Given the description of an element on the screen output the (x, y) to click on. 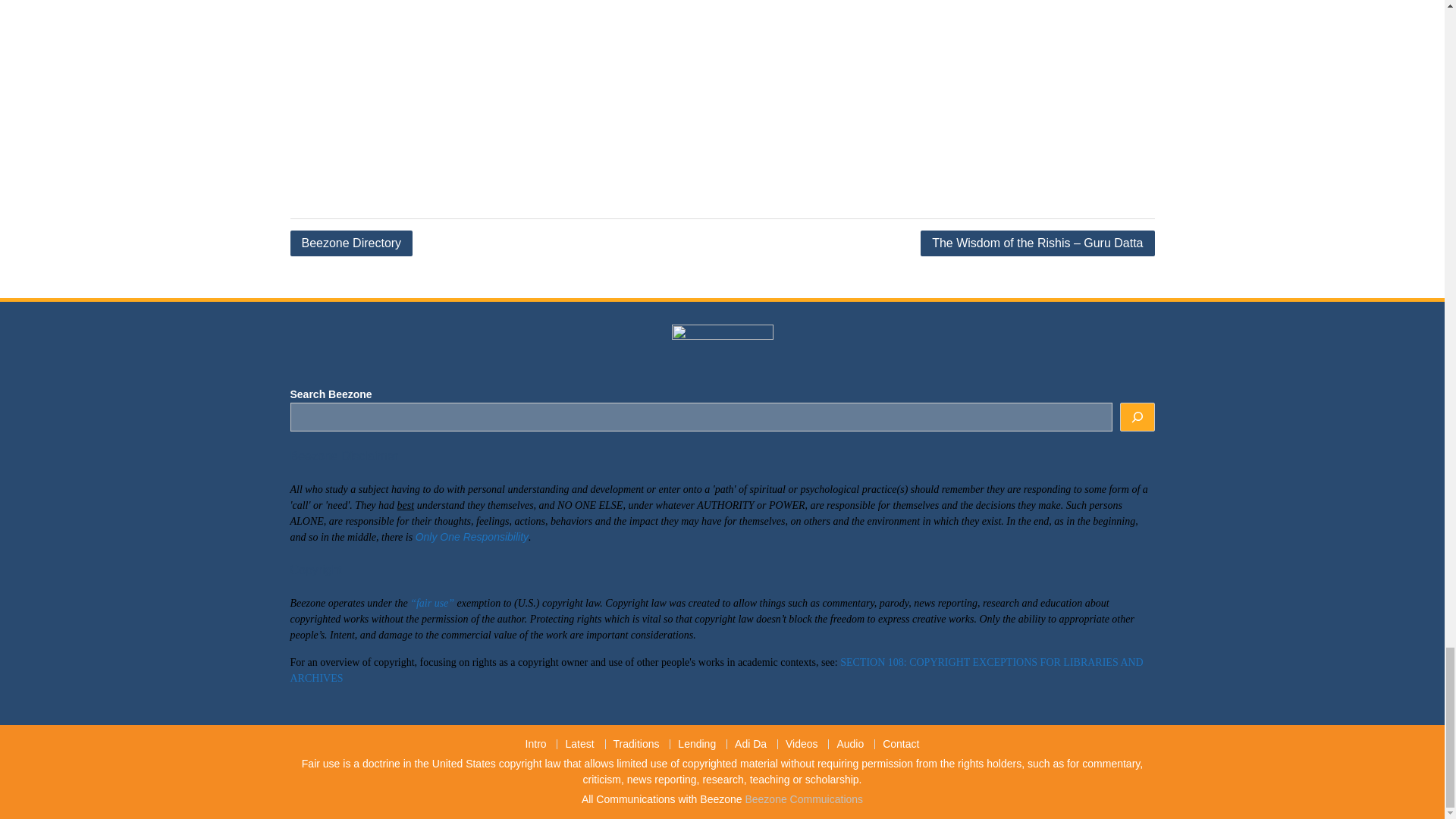
Adi Da (750, 744)
Latest (578, 744)
Traditions (635, 744)
Lending (696, 744)
Beezone Commuications (803, 799)
Beezone Directory (350, 243)
Contact (900, 744)
Only One Responsibility (471, 536)
Audio (849, 744)
Videos (801, 744)
SECTION 108: COPYRIGHT EXCEPTIONS FOR LIBRARIES AND ARCHIVES (715, 669)
Intro (536, 744)
